Given the description of an element on the screen output the (x, y) to click on. 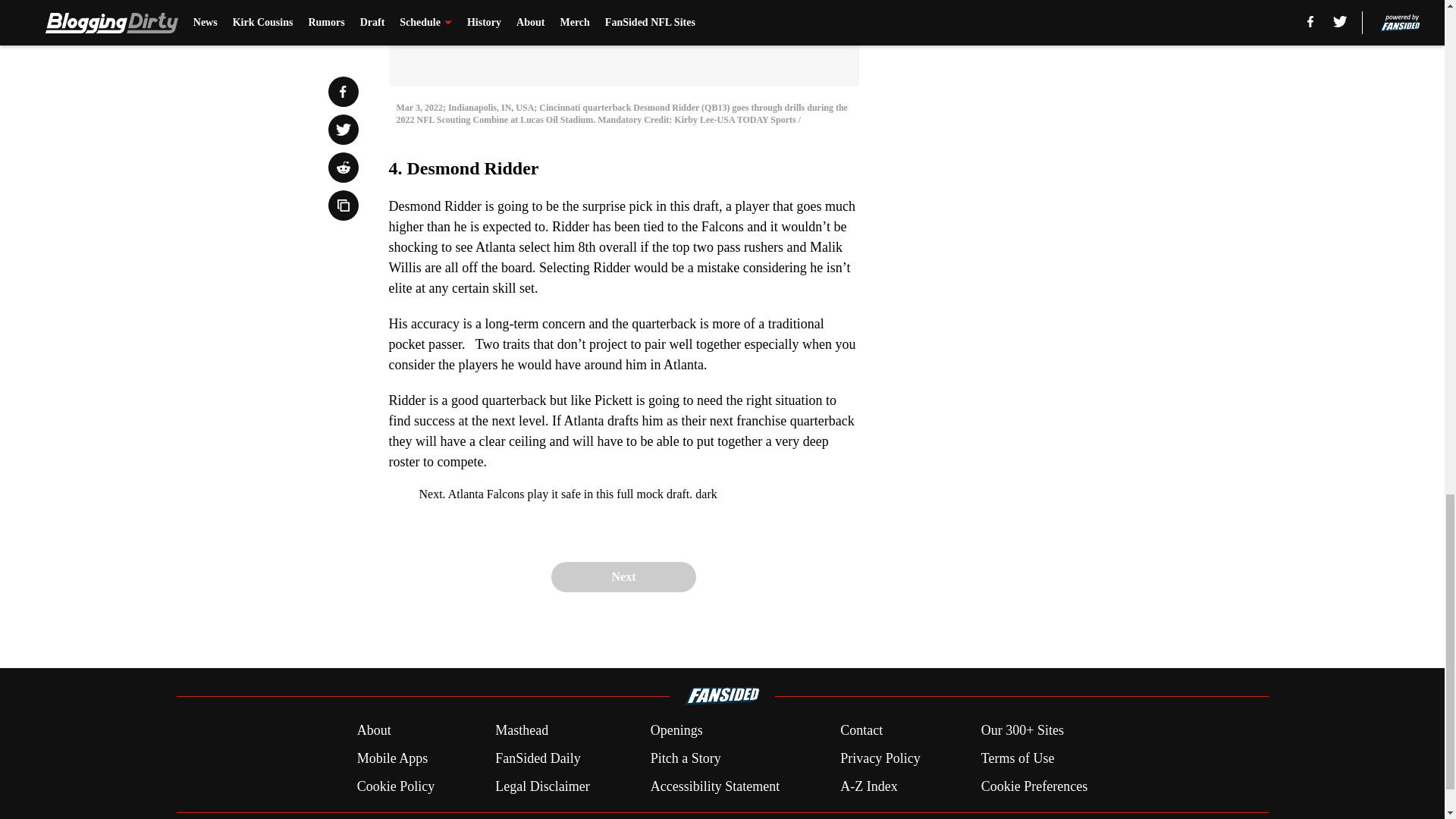
Accessibility Statement (714, 786)
FanSided Daily (537, 758)
Contact (861, 730)
Legal Disclaimer (542, 786)
Terms of Use (1017, 758)
Next (622, 576)
Cookie Policy (395, 786)
Openings (676, 730)
Pitch a Story (685, 758)
Privacy Policy (880, 758)
Cookie Preferences (1034, 786)
Masthead (521, 730)
A-Z Index (868, 786)
Mobile Apps (392, 758)
About (373, 730)
